Given the description of an element on the screen output the (x, y) to click on. 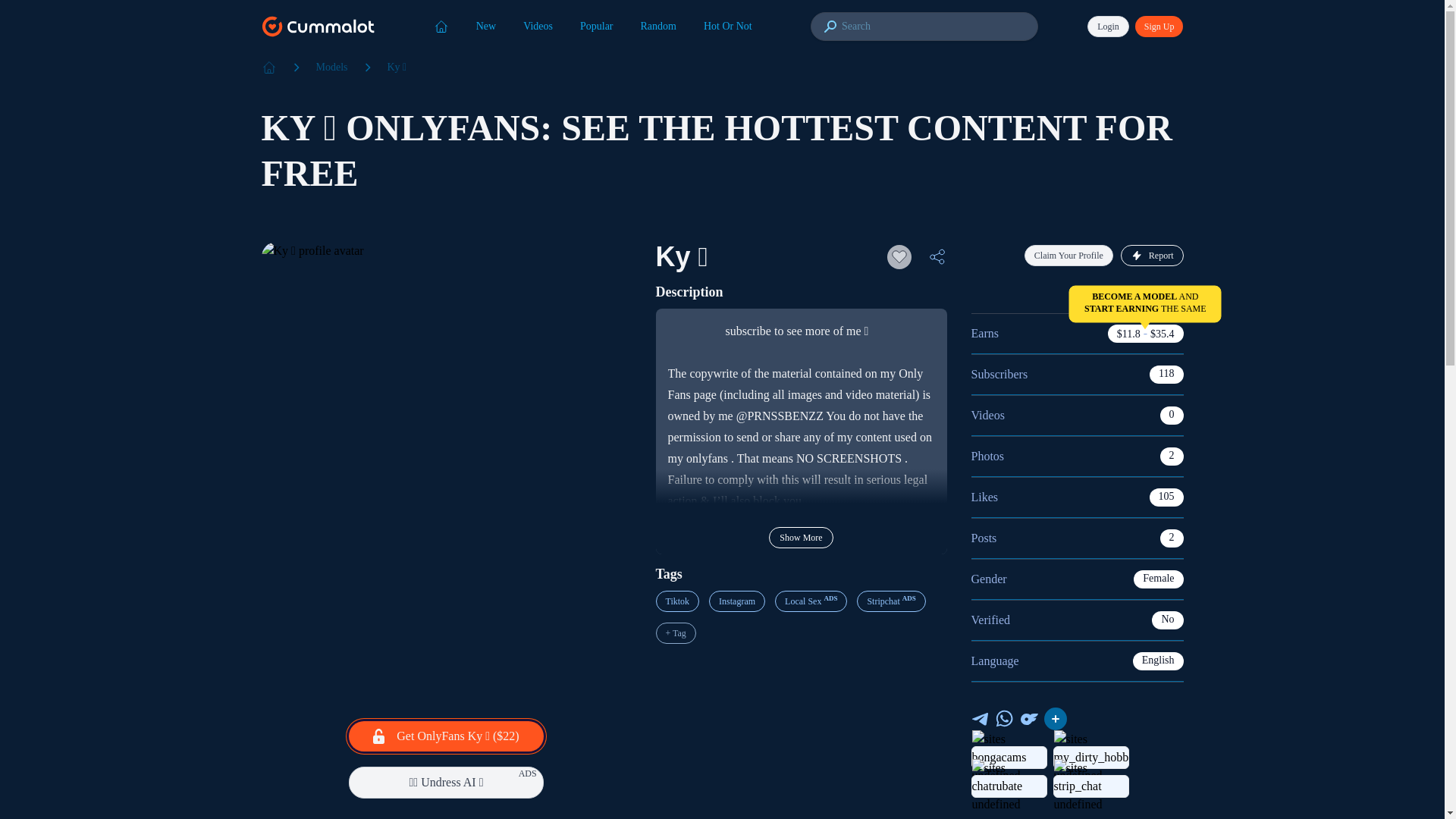
Sign Up (1159, 25)
Login (1108, 25)
Popular (596, 26)
Random (658, 26)
sites chatrubate undefined (1009, 786)
Claim Your Profile (1069, 255)
New (486, 26)
Videos (537, 26)
Models (331, 67)
sites bongacams undefined (1009, 757)
Hot Or Not (727, 26)
Instagram (737, 600)
Tiktok (676, 600)
